Given the description of an element on the screen output the (x, y) to click on. 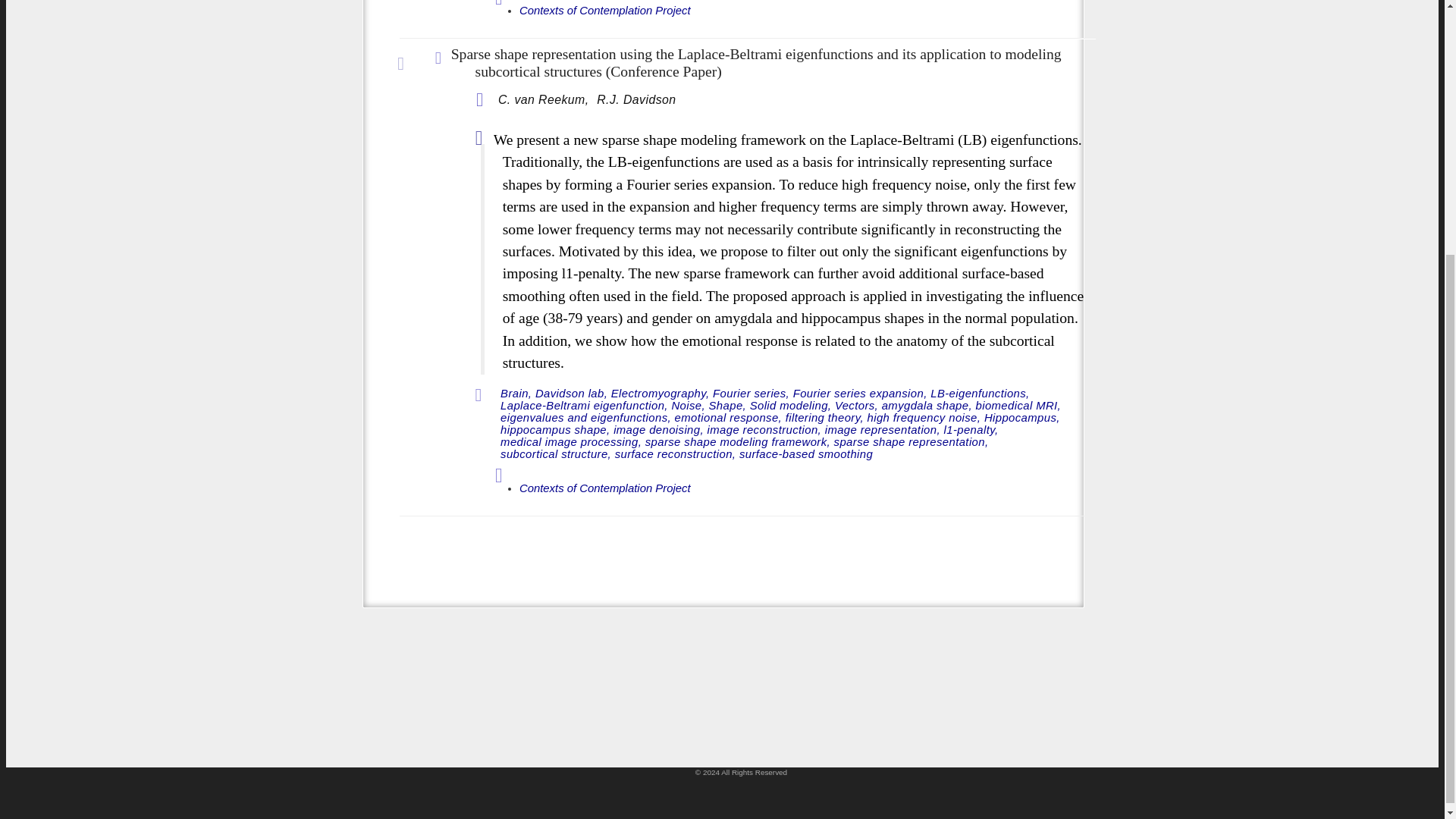
C. van Reekum, (544, 100)
Electromyography, (660, 393)
Shape, (727, 405)
Contexts of Contemplation Project (604, 10)
Brain, (515, 393)
R.J. Davidson (635, 100)
LB-eigenfunctions, (979, 393)
Fourier series, (751, 393)
Davidson lab, (571, 393)
Laplace-Beltrami eigenfunction, (584, 405)
Fourier series expansion, (860, 393)
Noise, (687, 405)
